Given the description of an element on the screen output the (x, y) to click on. 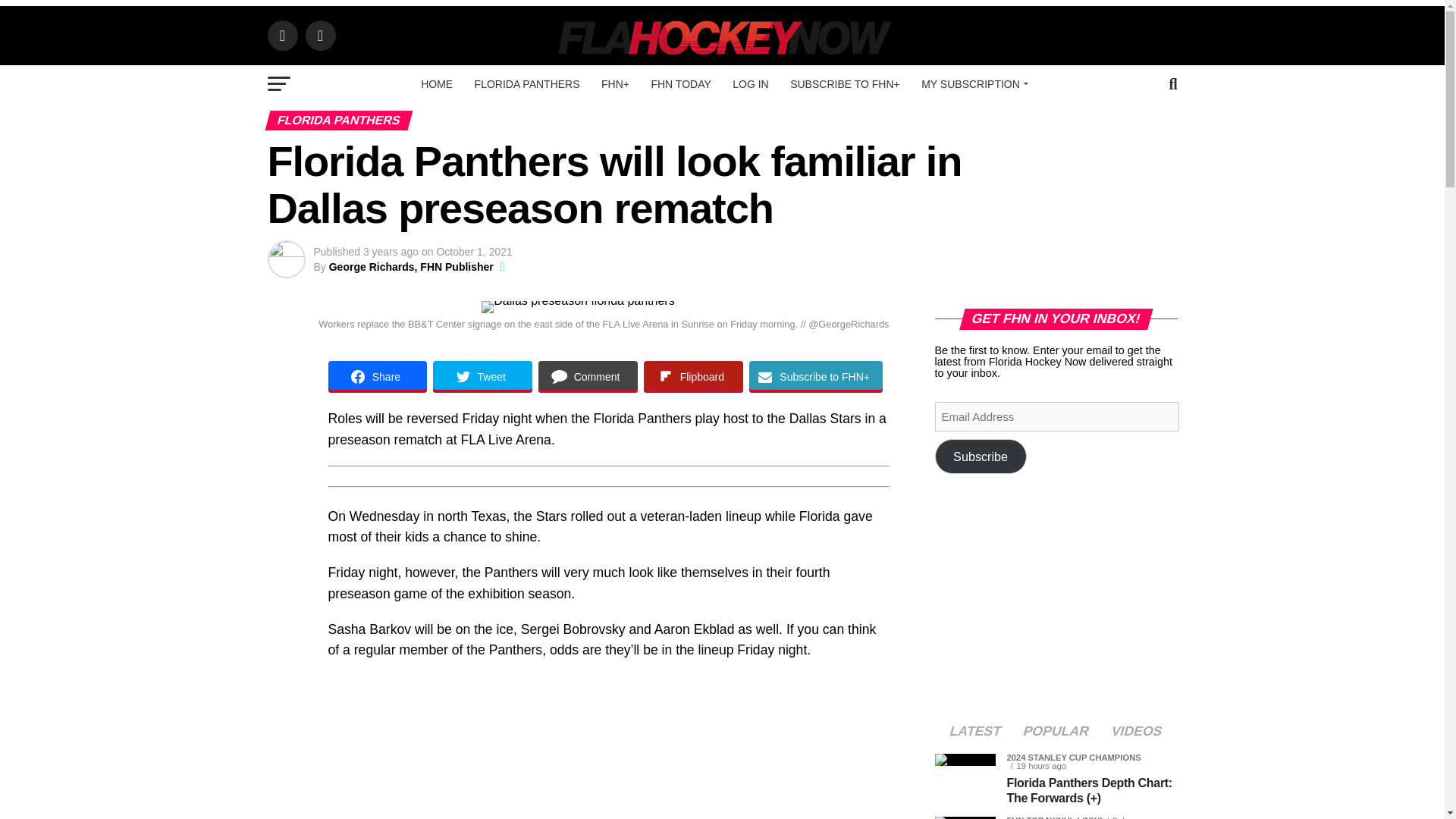
FHN TODAY (680, 84)
Share on Comment (587, 377)
Share on Tweet (482, 377)
Share on Flipboard (692, 377)
FLORIDA PANTHERS (527, 84)
Posts by George Richards, FHN Publisher (411, 266)
Share on Share (376, 377)
HOME (436, 84)
LOG IN (750, 84)
